Given the description of an element on the screen output the (x, y) to click on. 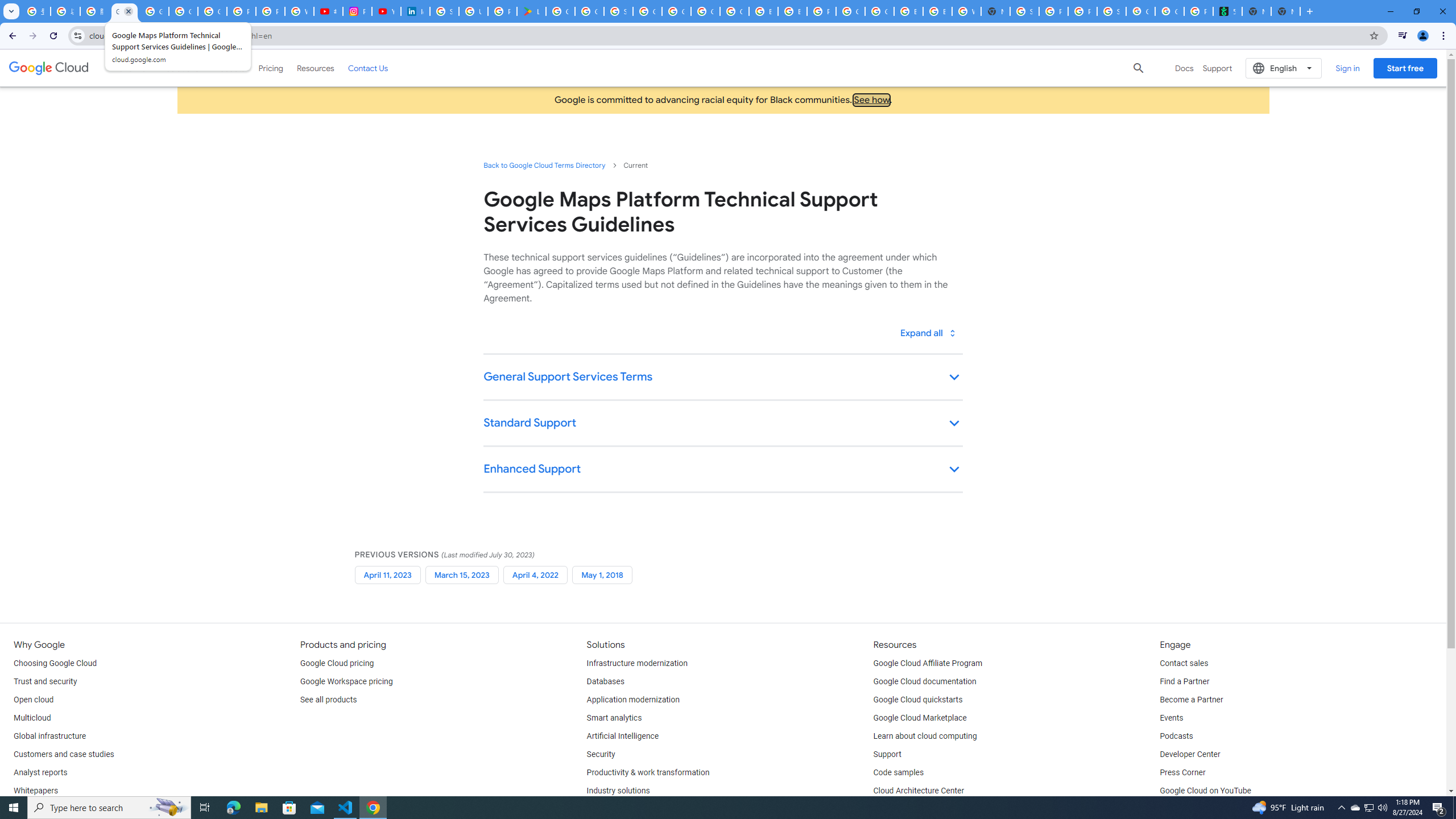
Last Shelter: Survival - Apps on Google Play (531, 11)
Analyst reports (39, 773)
Find a Partner (1183, 682)
Google Cloud on YouTube (1204, 791)
Google Cloud (48, 67)
Google Workspace - Specific Terms (588, 11)
See all products (327, 700)
Sign in - Google Accounts (444, 11)
Choosing Google Cloud (55, 663)
